Given the description of an element on the screen output the (x, y) to click on. 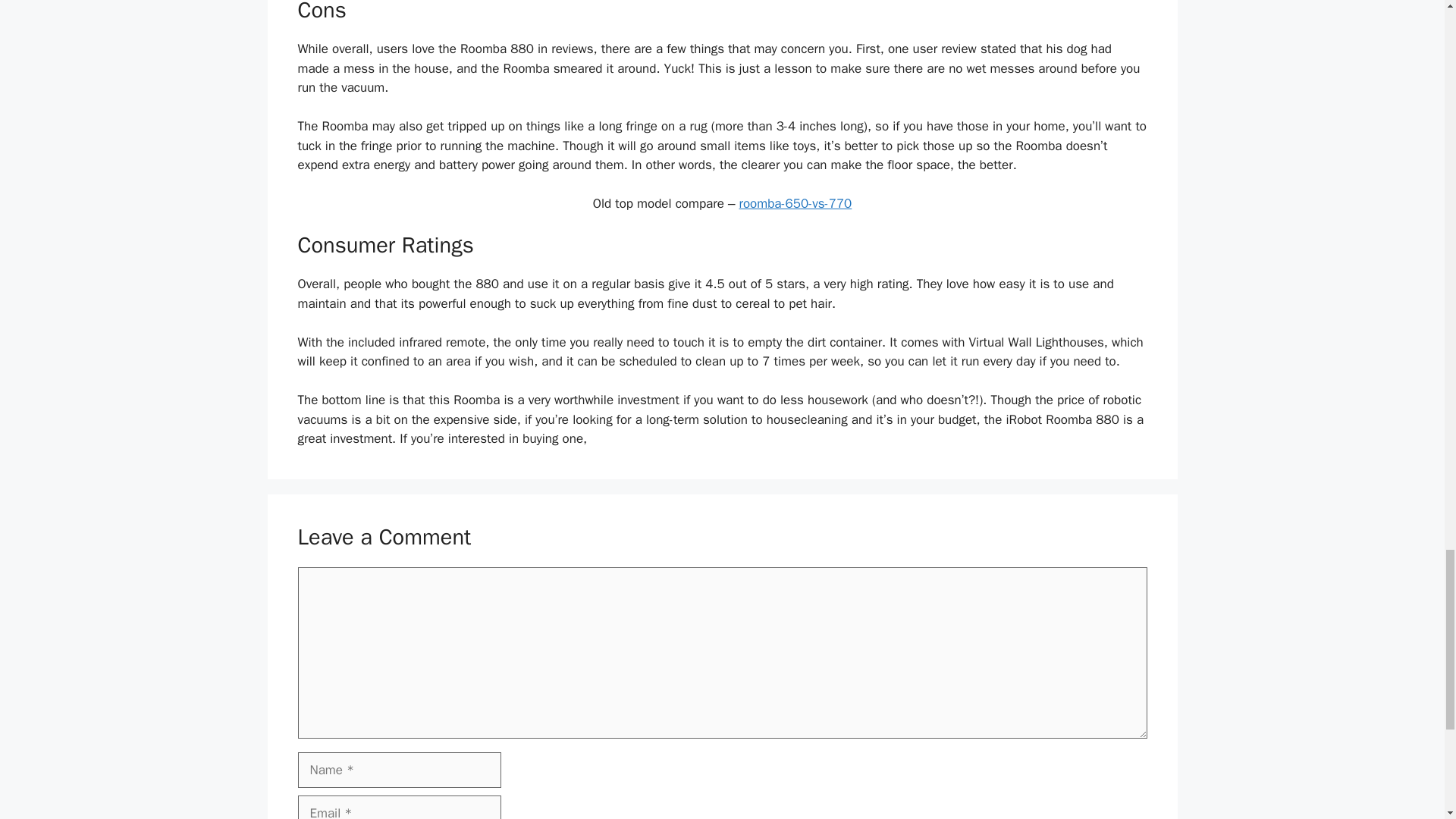
roomba-650-vs-770 (794, 203)
